Given the description of an element on the screen output the (x, y) to click on. 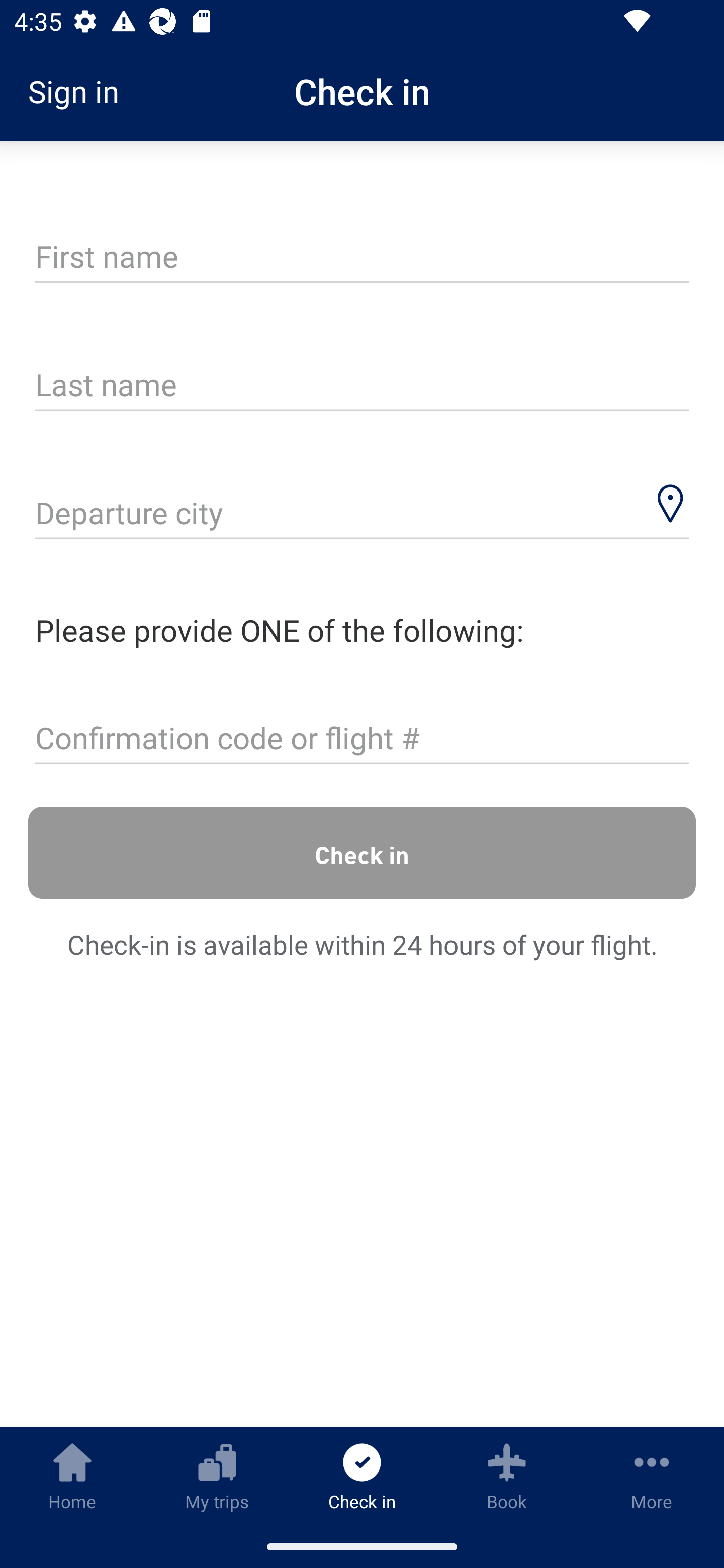
Sign in (80, 91)
First name (361, 257)
Last name (361, 386)
Departure city (361, 514)
Check in (361, 851)
Home (72, 1475)
My trips (216, 1475)
Book (506, 1475)
More (651, 1475)
